Given the description of an element on the screen output the (x, y) to click on. 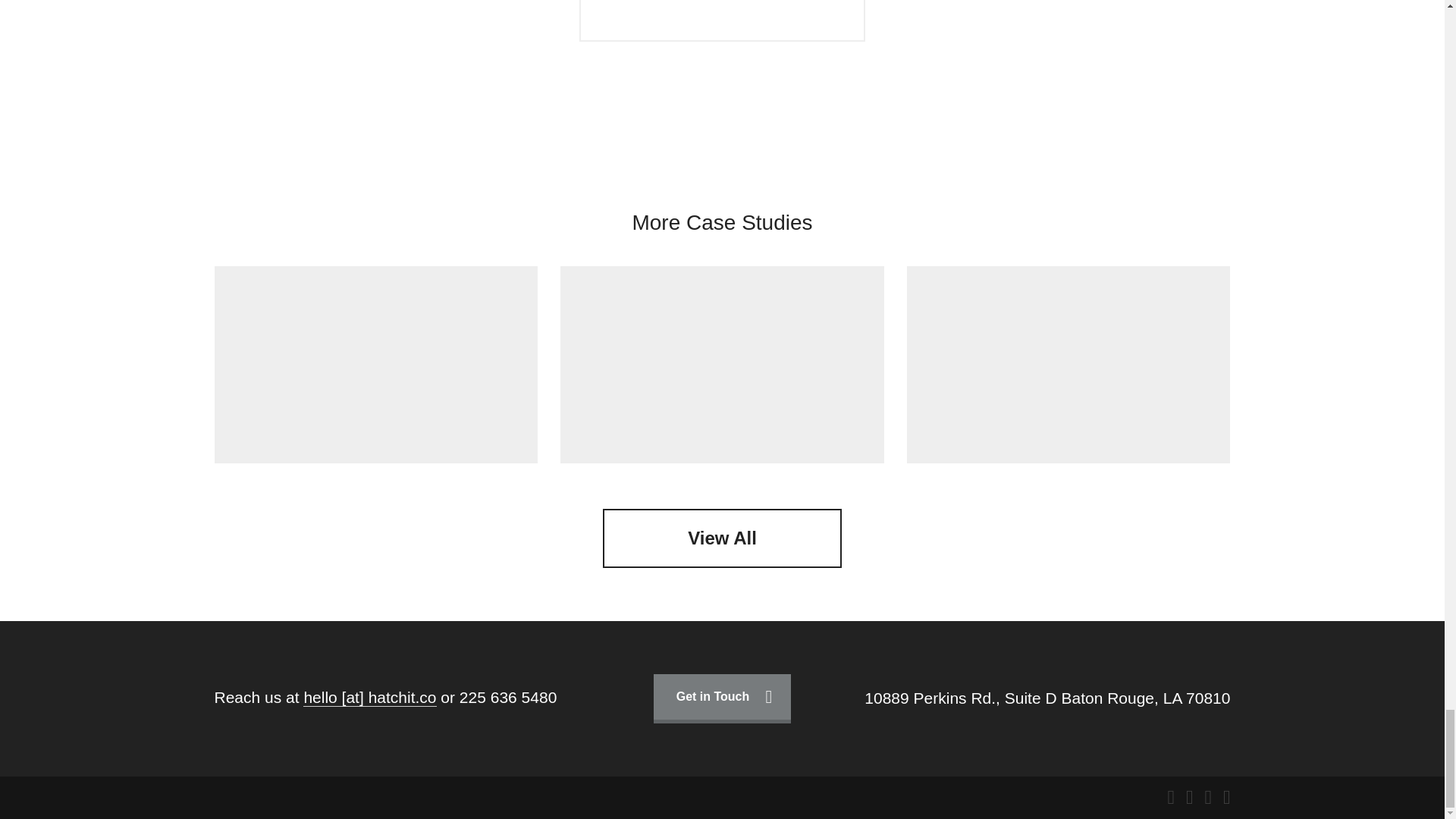
Linkedin (1226, 797)
View All (721, 538)
Instagram (1207, 797)
Get in Touch (722, 698)
Start a Project (721, 20)
Facebook (1170, 797)
Twitter (1189, 797)
